Given the description of an element on the screen output the (x, y) to click on. 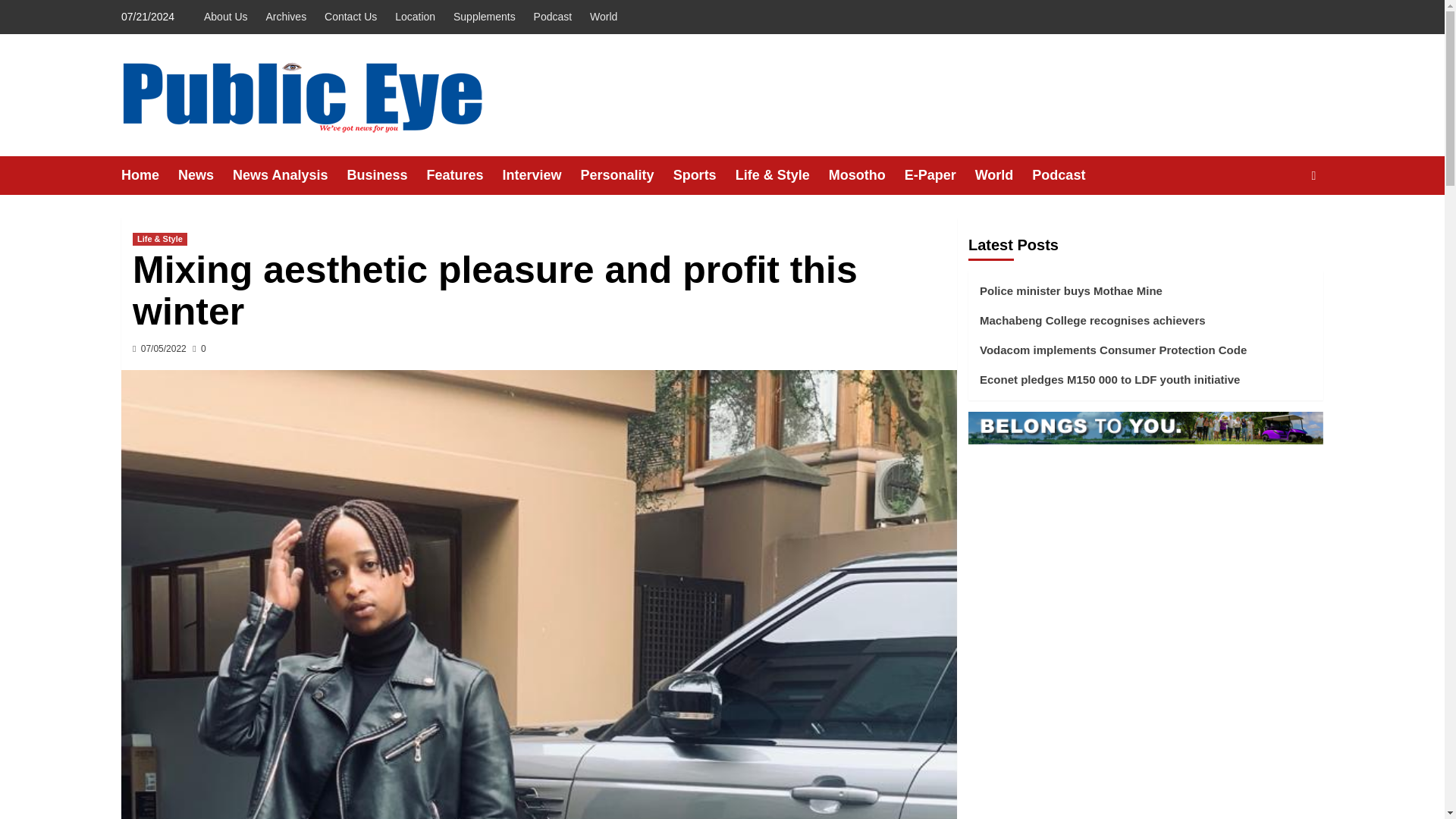
World (603, 17)
World (1003, 175)
News Analysis (289, 175)
Personality (626, 175)
News (204, 175)
Location (414, 17)
Interview (541, 175)
Sports (703, 175)
E-Paper (939, 175)
Search (1278, 221)
Home (148, 175)
Supplements (483, 17)
0 (198, 348)
Features (464, 175)
Podcast (1067, 175)
